Given the description of an element on the screen output the (x, y) to click on. 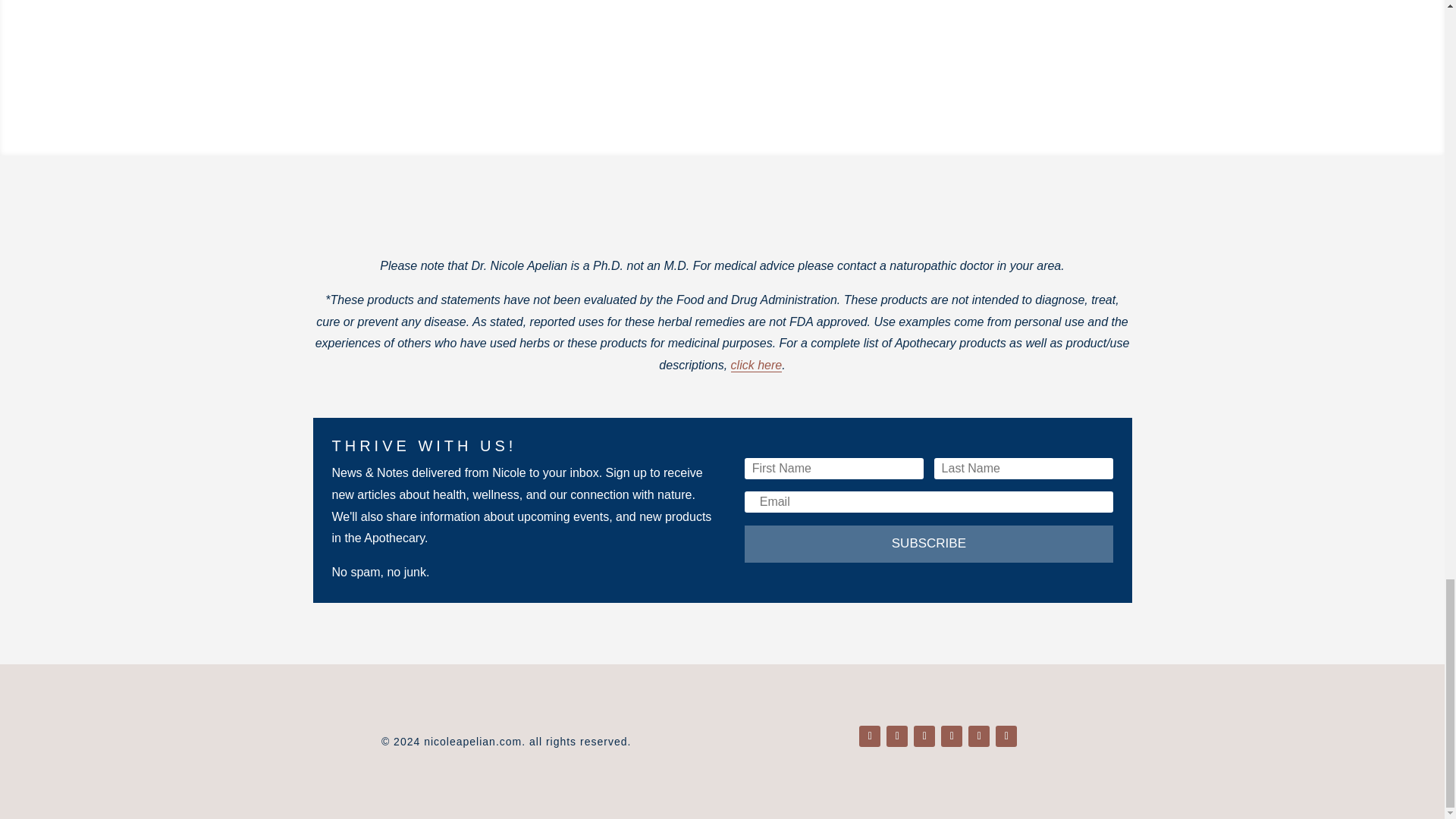
Follow on X (979, 735)
Follow on TikTok (1005, 735)
Follow on Instagram (924, 735)
Follow on Facebook (869, 735)
Follow on LinkedIn (896, 735)
Follow on Youtube (951, 735)
